Given the description of an element on the screen output the (x, y) to click on. 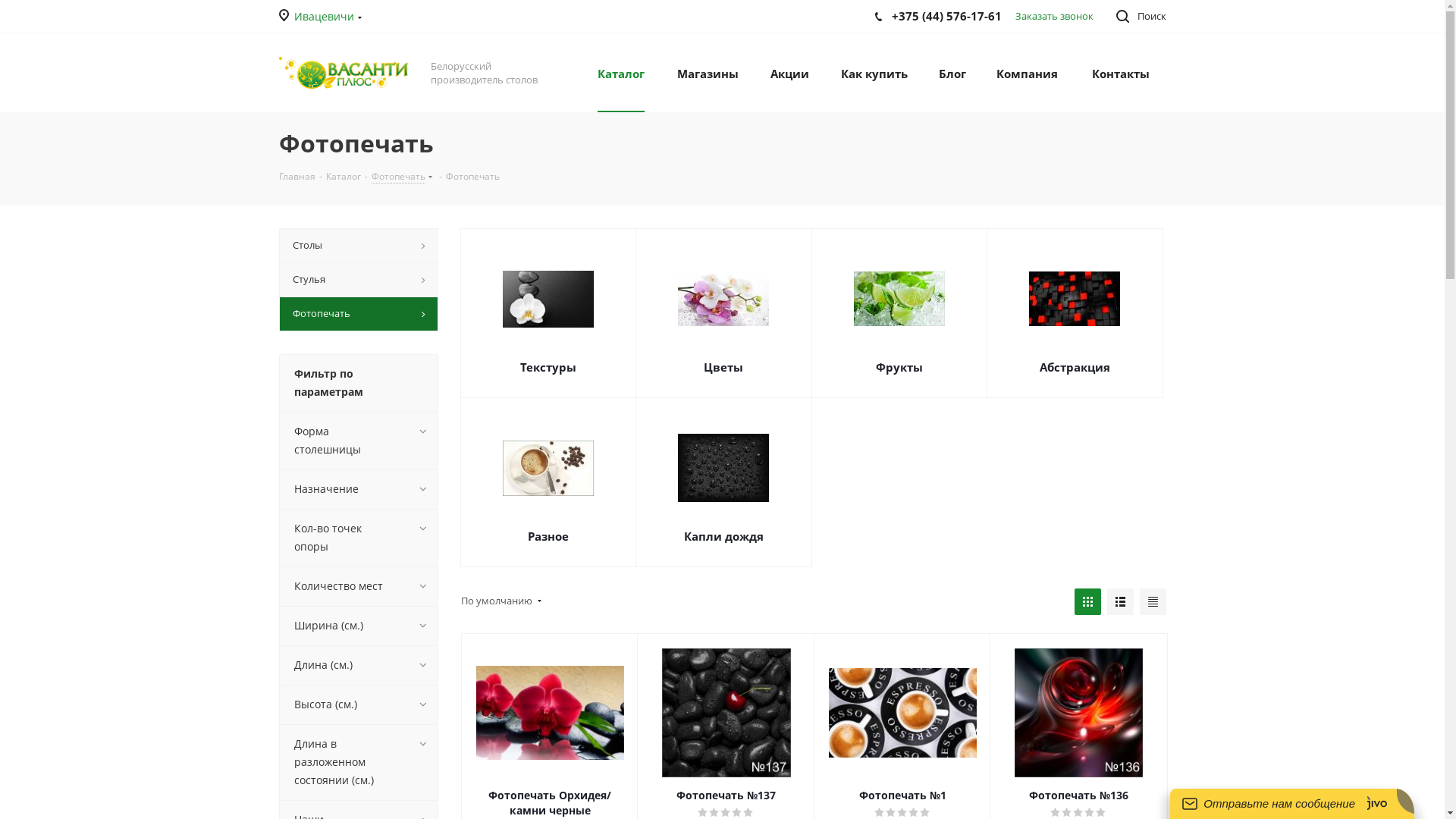
1 Element type: hover (879, 812)
1 Element type: hover (1055, 812)
5 Element type: hover (925, 812)
Y Element type: text (4, 4)
3 Element type: hover (725, 812)
4 Element type: hover (1089, 812)
1 Element type: hover (703, 812)
4 Element type: hover (913, 812)
2 Element type: hover (714, 812)
2 Element type: hover (891, 812)
5 Element type: hover (748, 812)
4 Element type: hover (737, 812)
3 Element type: hover (1078, 812)
5 Element type: hover (1101, 812)
3 Element type: hover (902, 812)
2 Element type: hover (1067, 812)
